Given the description of an element on the screen output the (x, y) to click on. 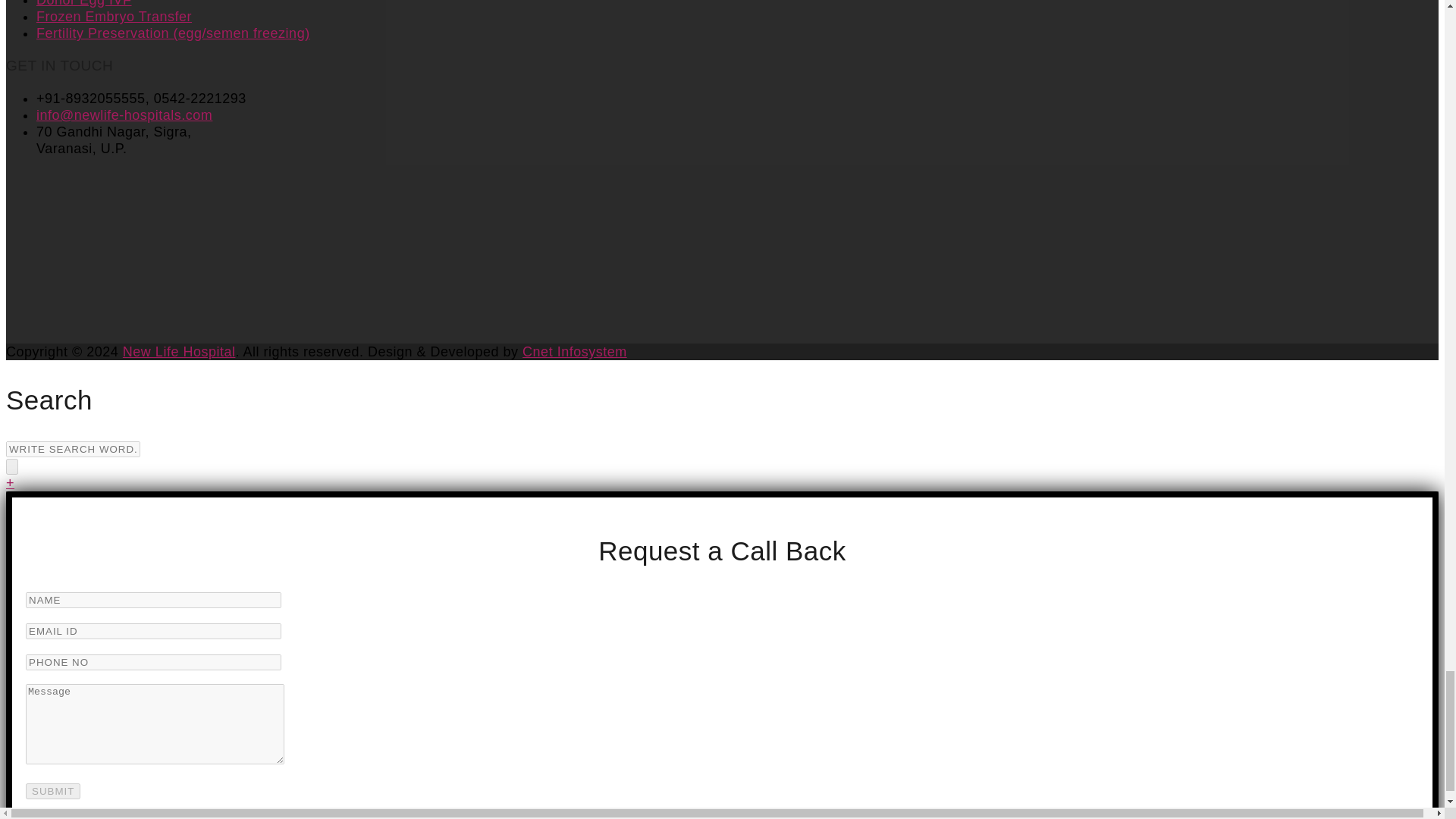
Submit (53, 790)
